Given the description of an element on the screen output the (x, y) to click on. 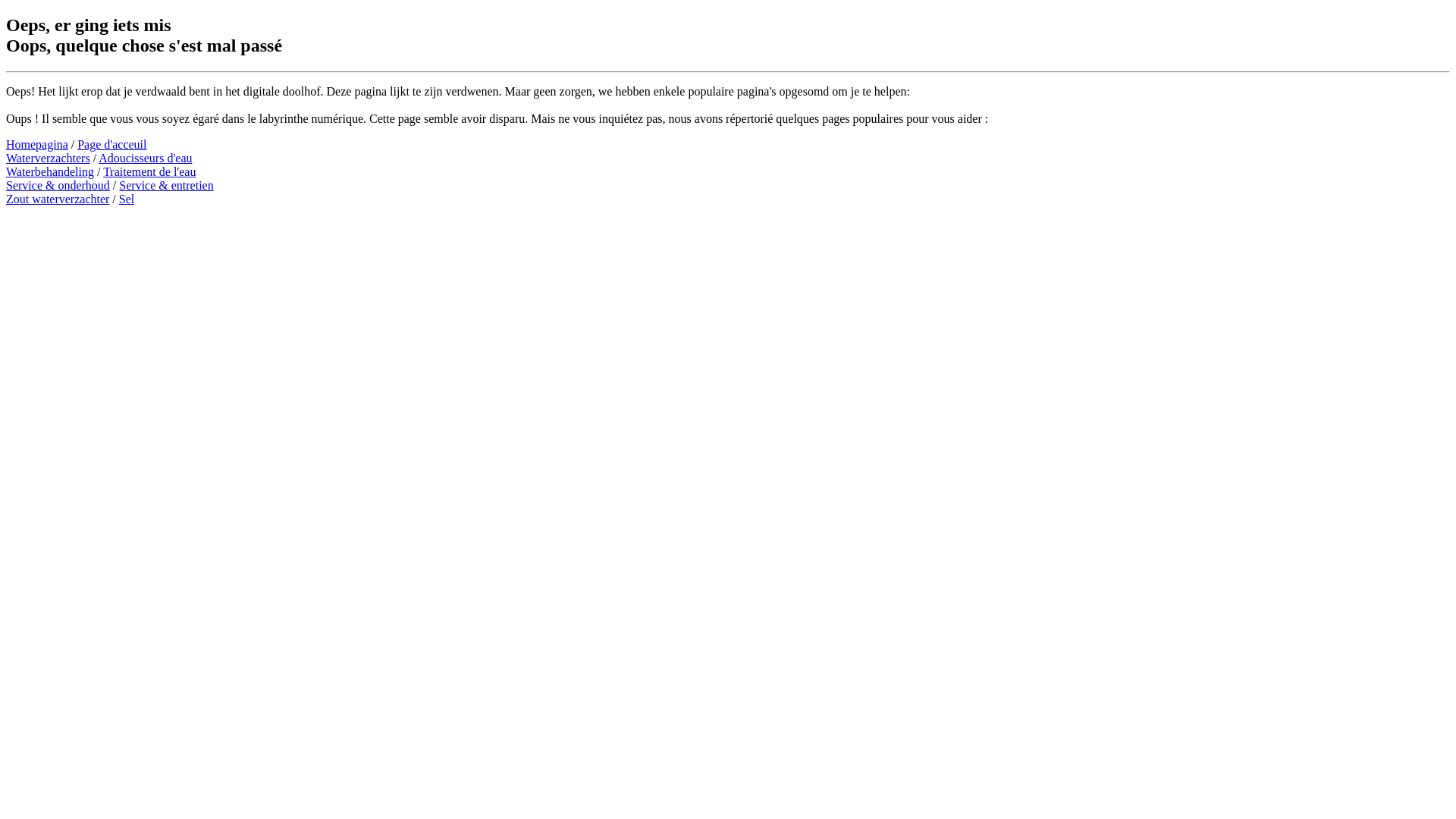
Adoucisseurs d'eau Element type: text (144, 157)
Waterbehandeling Element type: text (50, 171)
Sel Element type: text (126, 198)
Page d'acceuil Element type: text (111, 144)
Traitement de l'eau Element type: text (149, 171)
Waterverzachters Element type: text (48, 157)
Service & onderhoud Element type: text (57, 184)
Homepagina Element type: text (37, 144)
Zout waterverzachter Element type: text (57, 198)
Service & entretien Element type: text (166, 184)
